Given the description of an element on the screen output the (x, y) to click on. 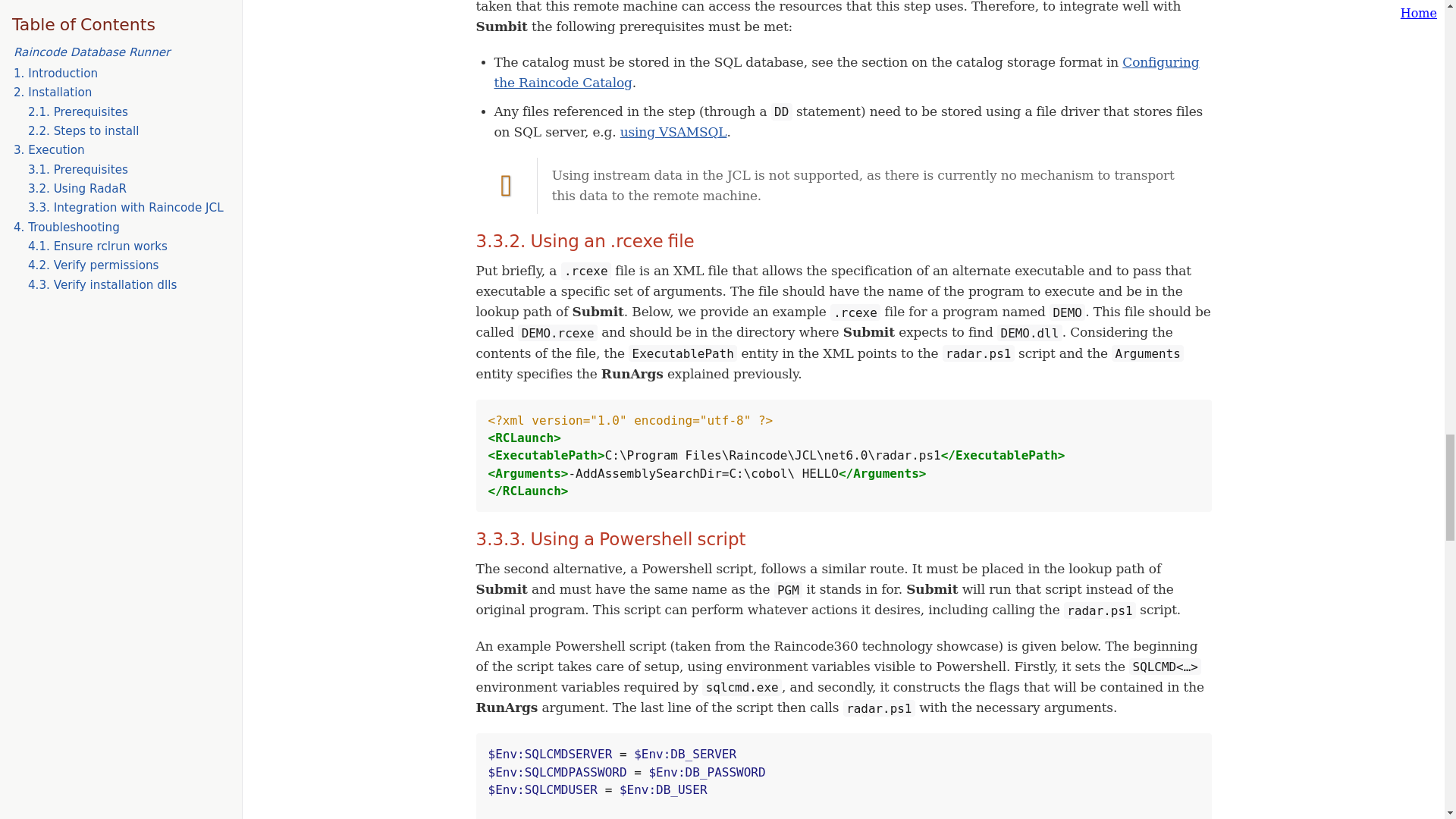
Configuring the Raincode Catalog (847, 72)
using VSAMSQL (673, 131)
Warning (506, 185)
